Given the description of an element on the screen output the (x, y) to click on. 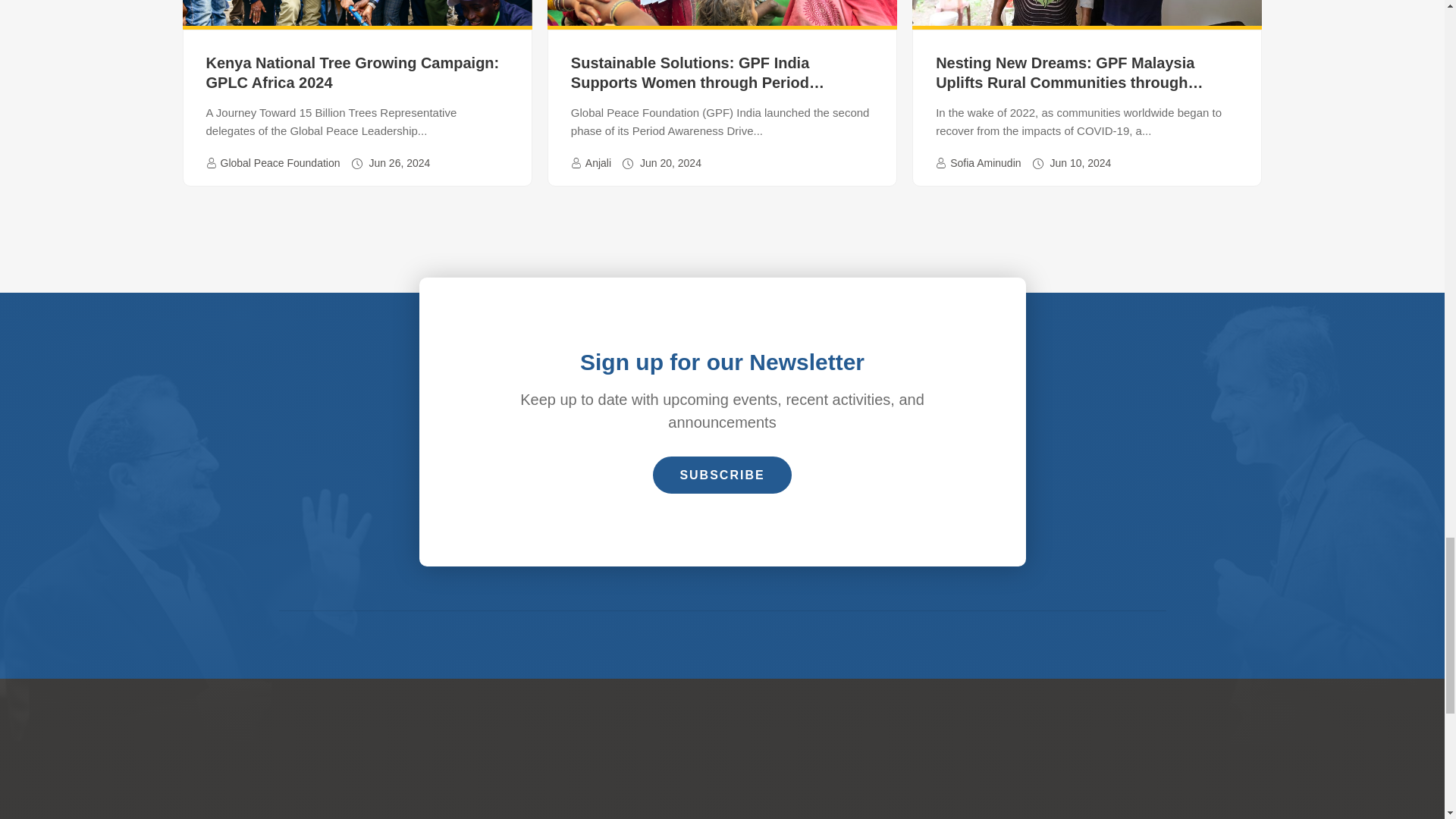
Posts by Sofia Aminudin (985, 162)
Posts by Global Peace Foundation (279, 162)
Posts by Anjali (598, 162)
